Given the description of an element on the screen output the (x, y) to click on. 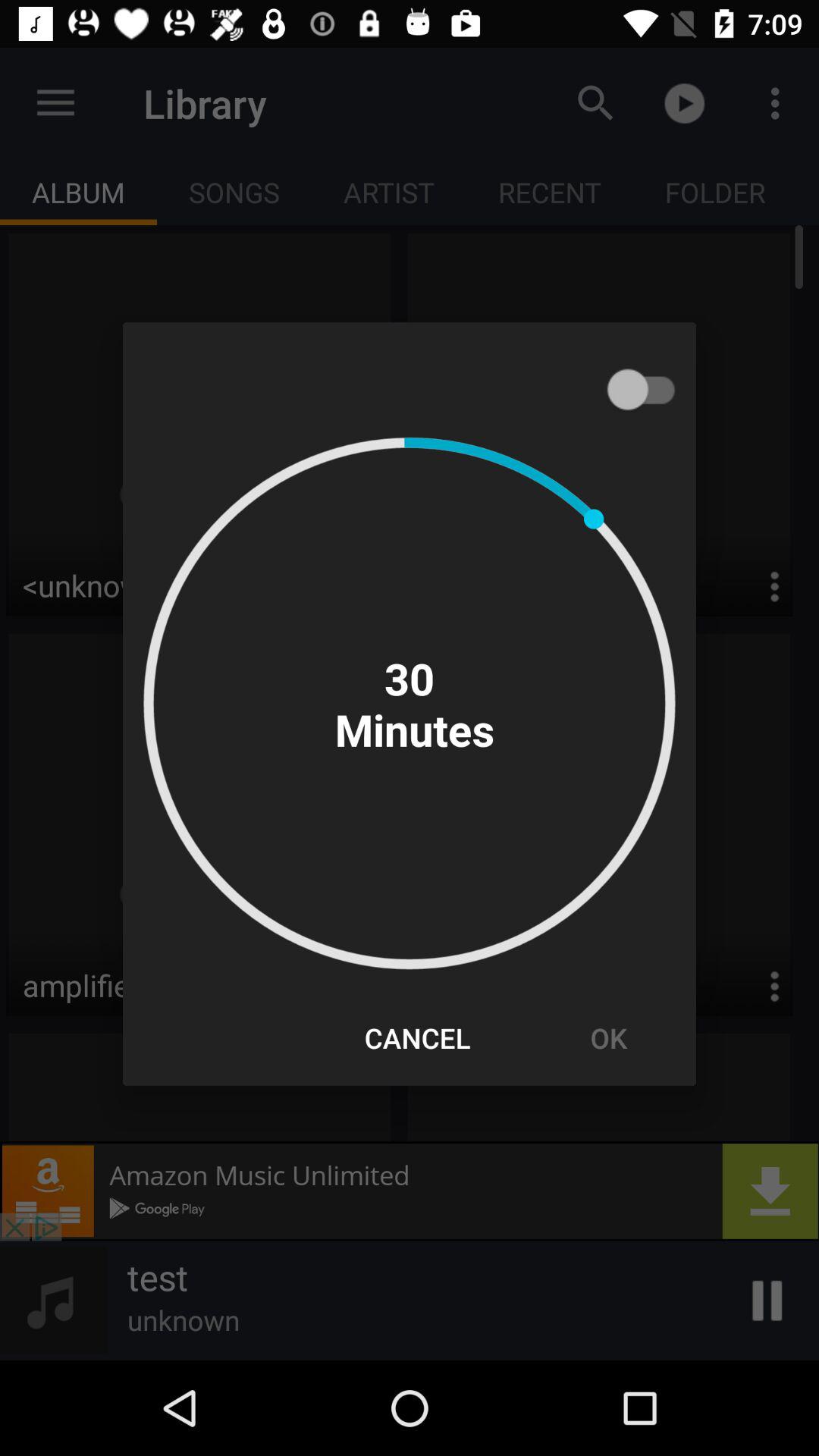
flip until cancel icon (417, 1037)
